Given the description of an element on the screen output the (x, y) to click on. 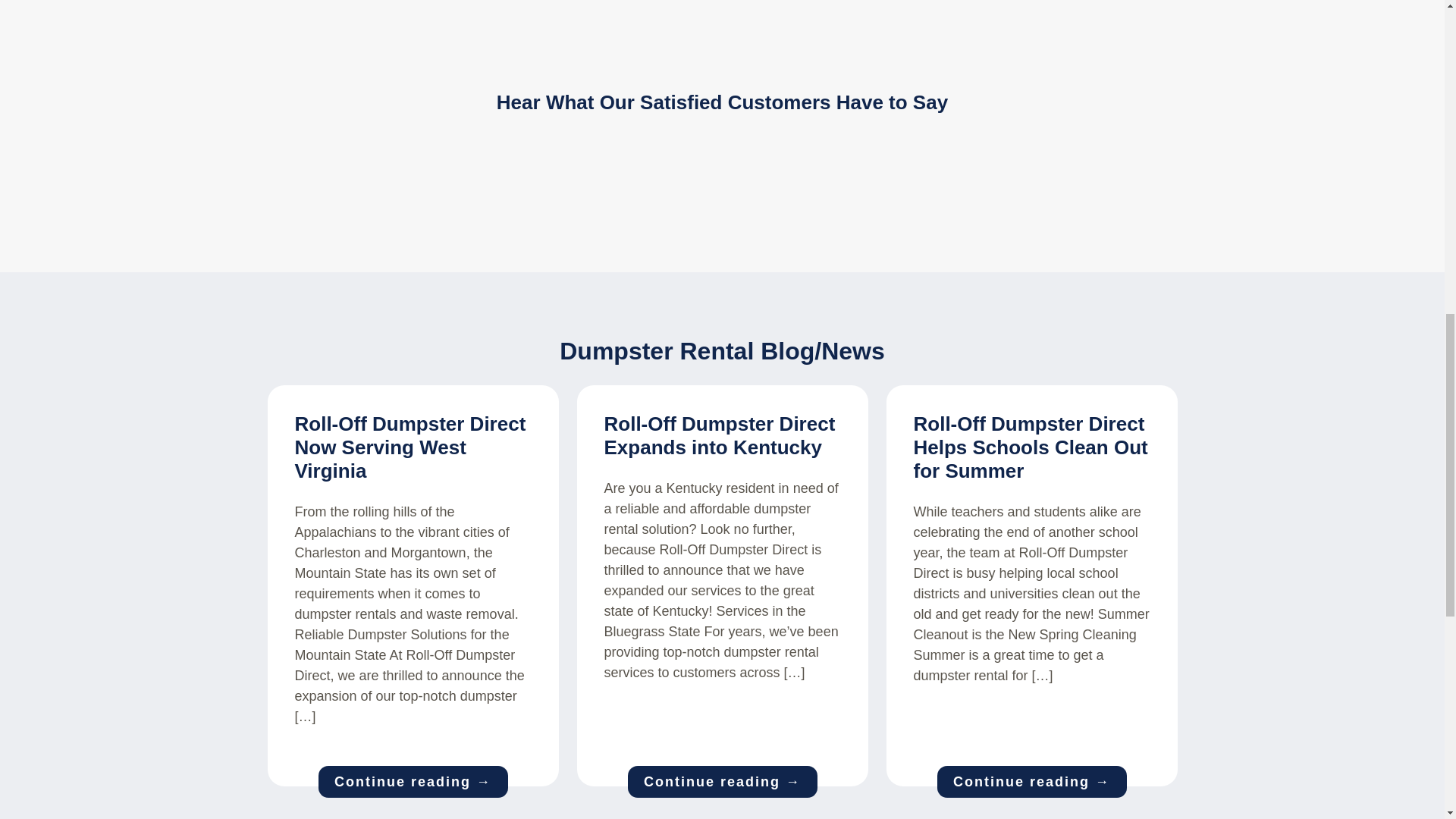
Roll-Off Dumpster Direct Expands into Kentucky (719, 435)
Roll-Off Dumpster Direct Helps Schools Clean Out for Summer (1029, 447)
Roll-Off Dumpster Direct Now Serving West Virginia (409, 447)
